Given the description of an element on the screen output the (x, y) to click on. 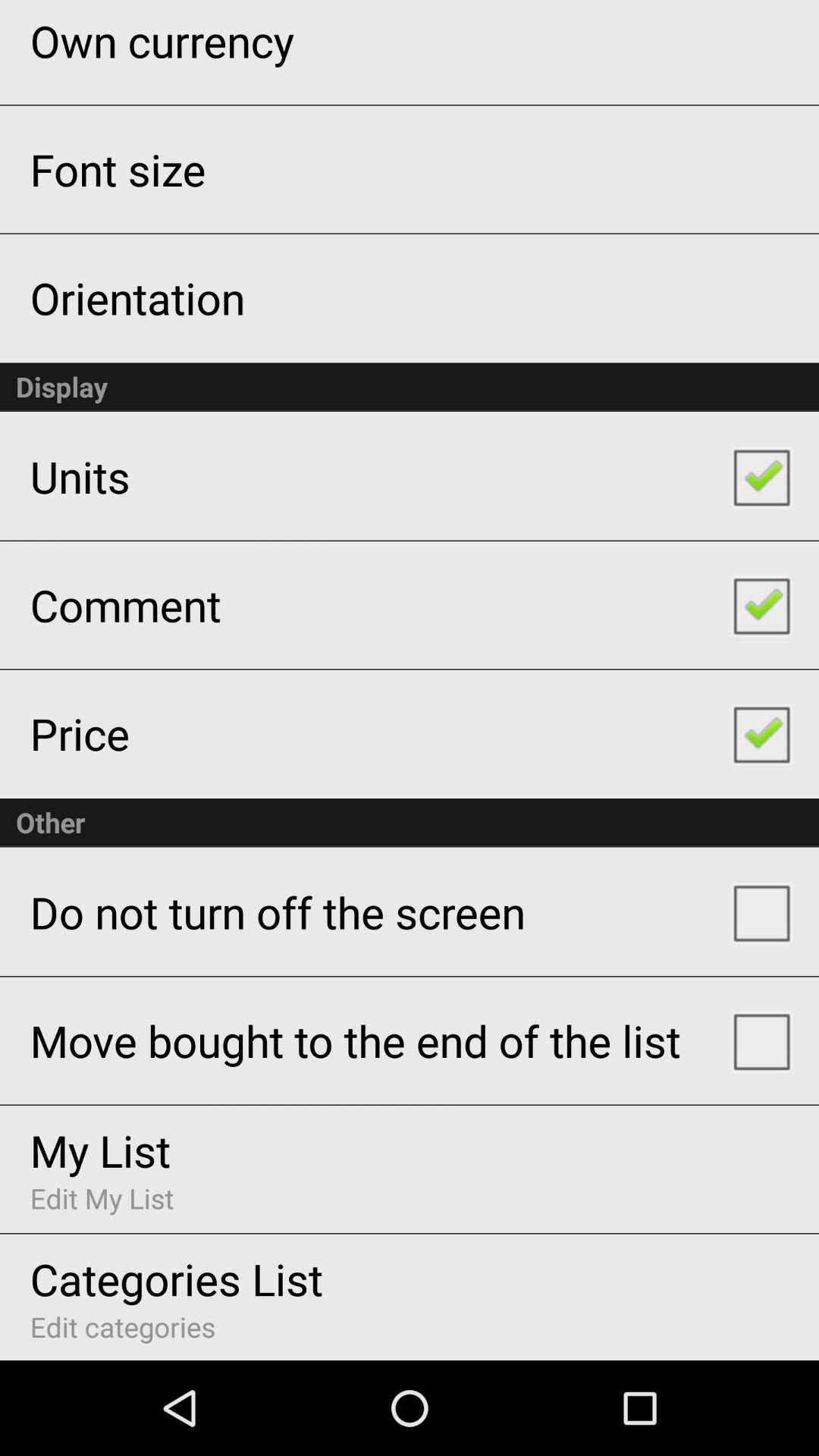
open units icon (80, 476)
